Given the description of an element on the screen output the (x, y) to click on. 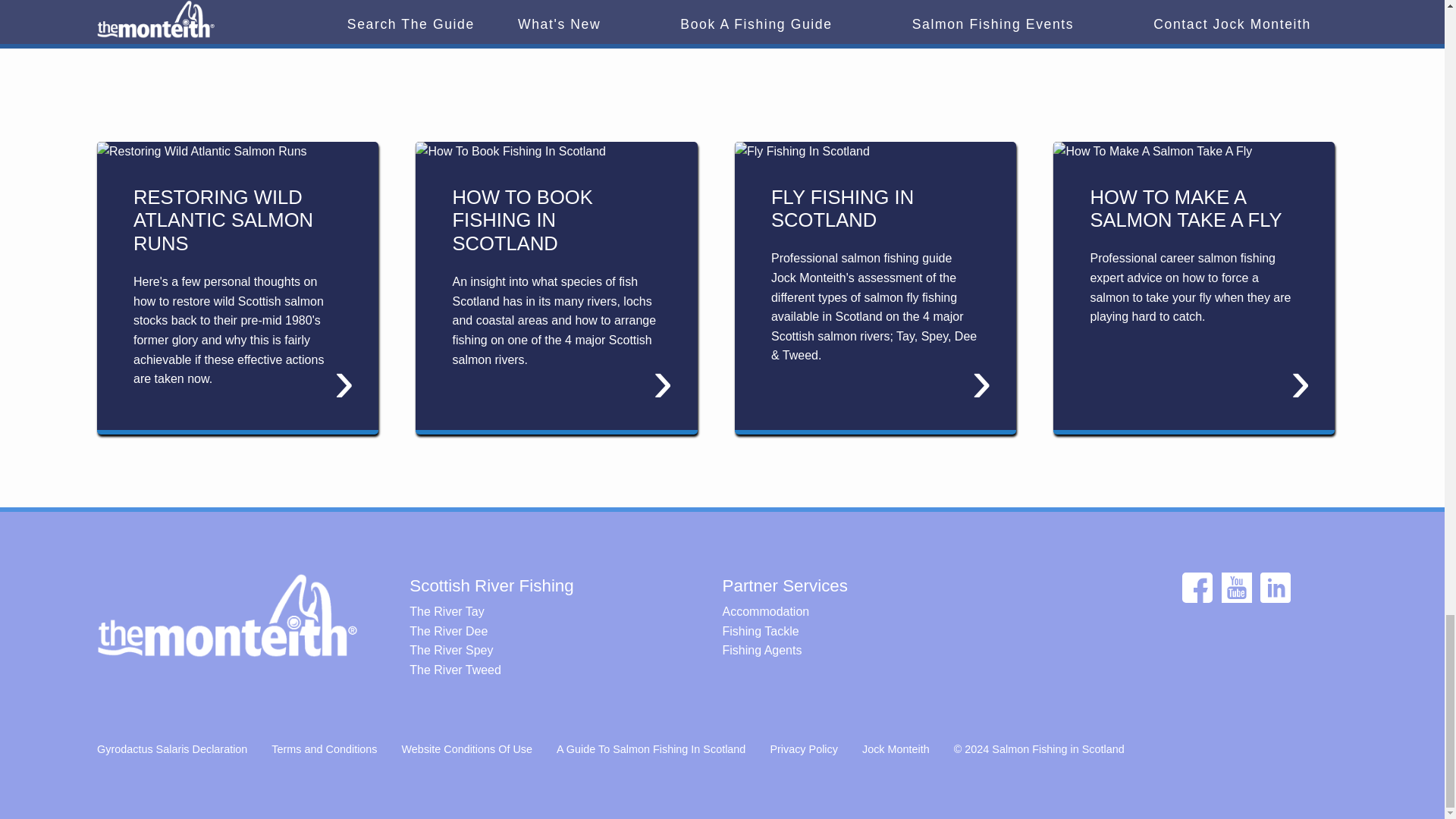
Salmon Fishing Pools on the River Tay in Scotland (540, 611)
The River Dee (540, 631)
River Dee Salmon Fishing Pools (540, 631)
The River Tay (540, 611)
Salmon Fishing Pools on the River Tay in Scotland (540, 650)
